Given the description of an element on the screen output the (x, y) to click on. 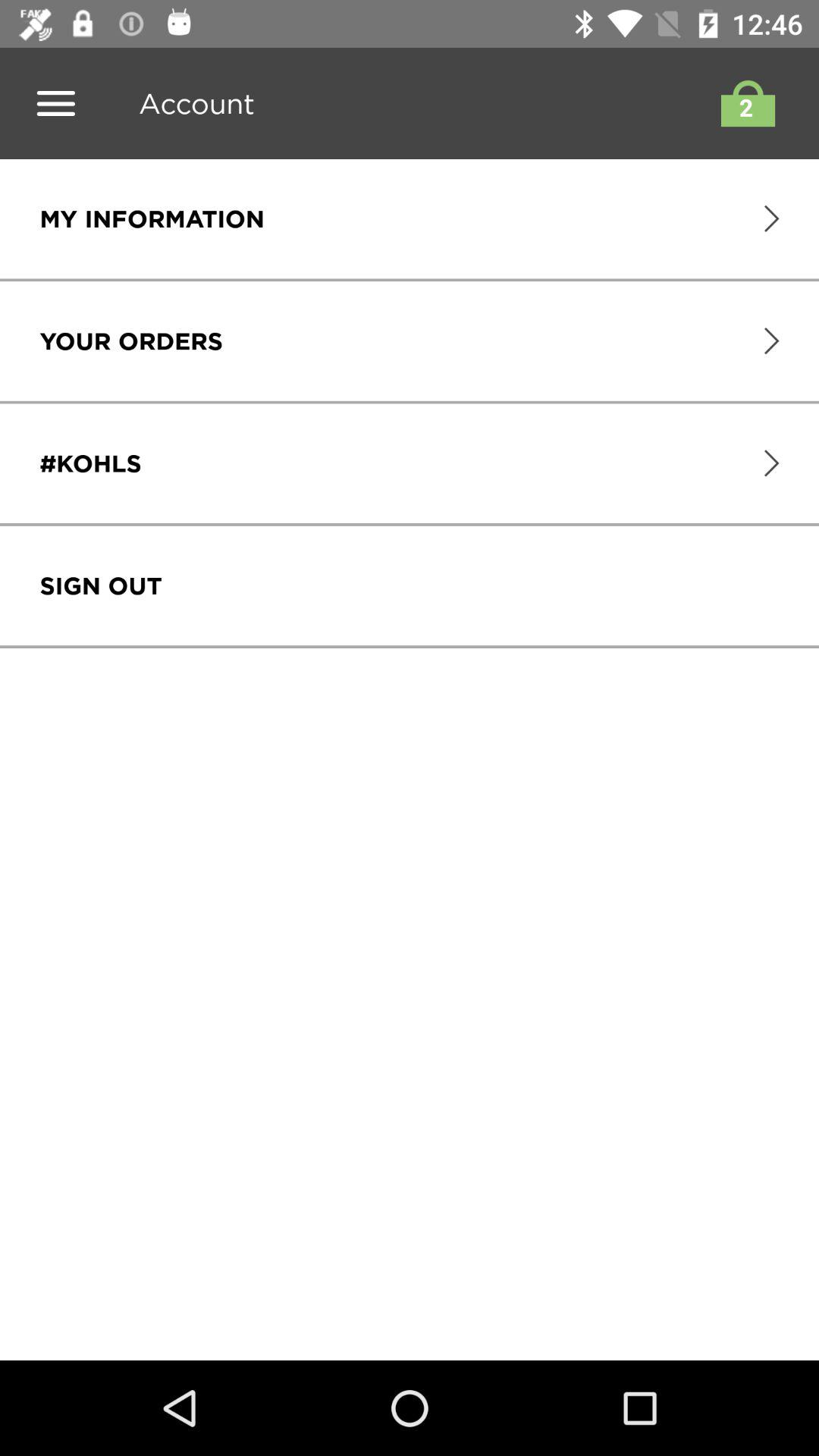
turn on the item below my information (130, 340)
